Given the description of an element on the screen output the (x, y) to click on. 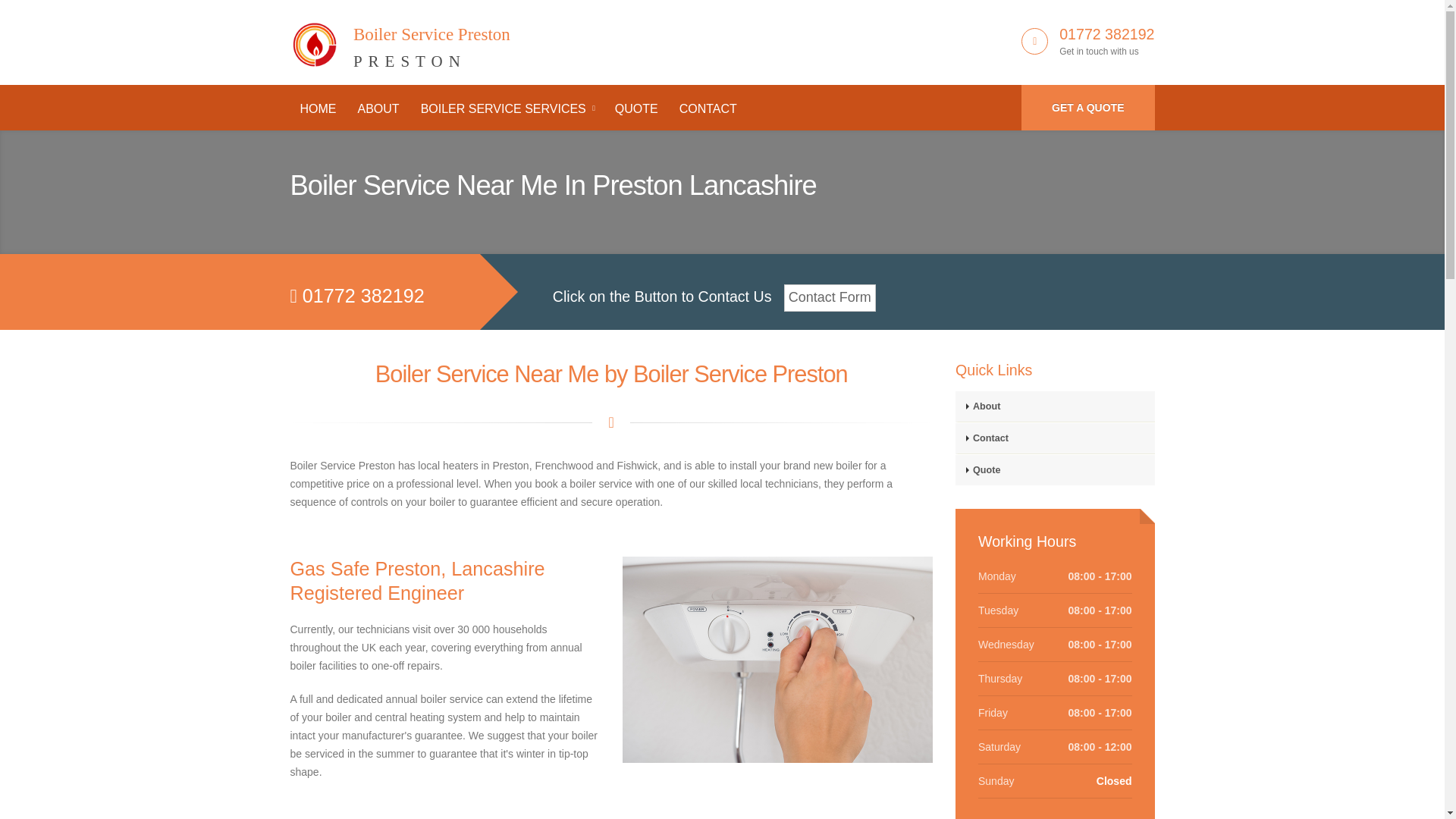
QUOTE (636, 109)
HOME (317, 109)
BOILER SERVICE SERVICES (507, 109)
01772 382192 (1106, 33)
CONTACT (707, 109)
ABOUT (399, 38)
GET A QUOTE (378, 109)
